Given the description of an element on the screen output the (x, y) to click on. 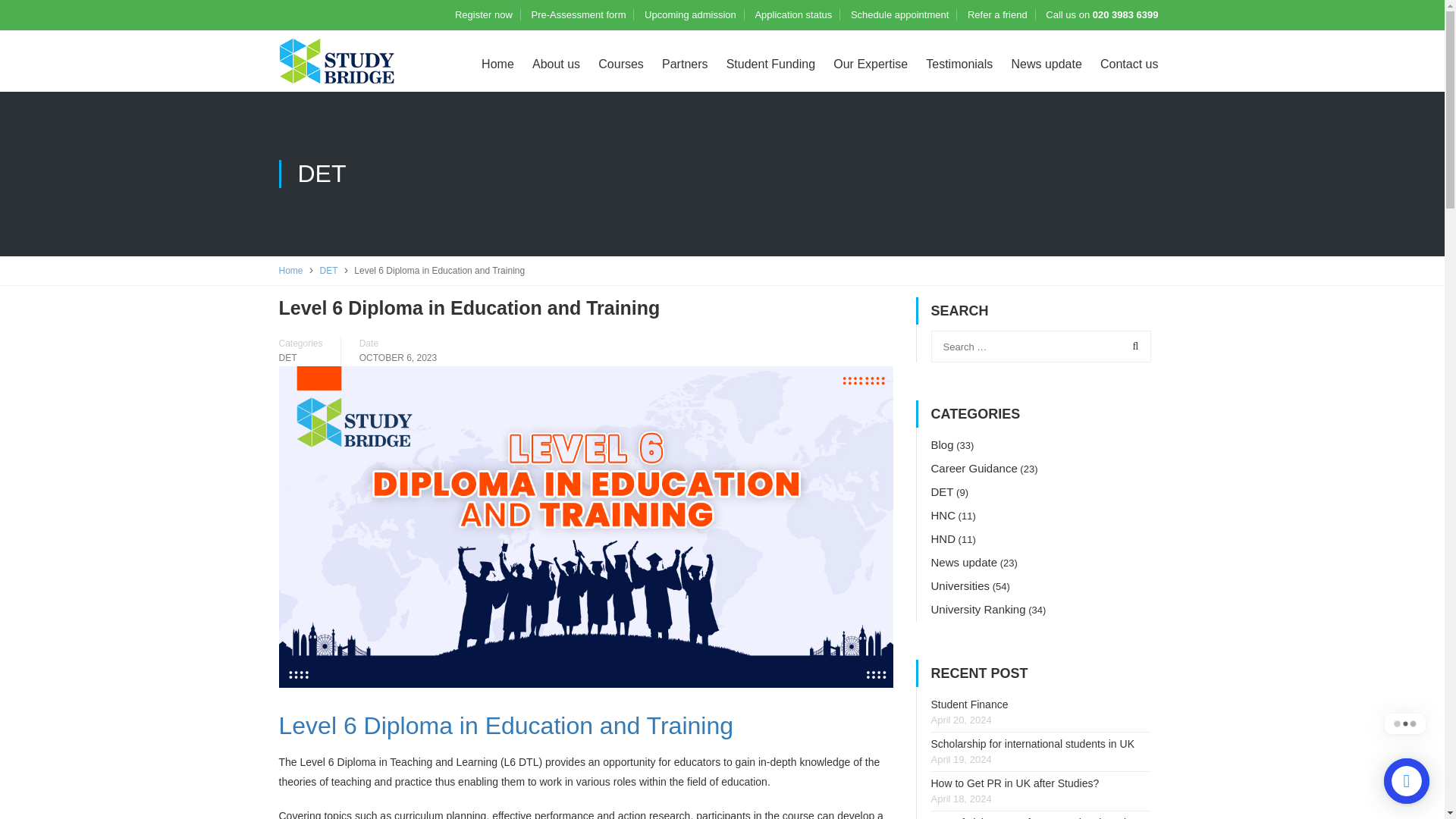
About us (556, 64)
News update (1046, 64)
Search (1132, 346)
Call us on 020 3983 6399 (1101, 14)
Home (290, 270)
Schedule appointment (899, 14)
Testimonials (959, 64)
Search (1132, 346)
Study Bridge -  (336, 62)
Upcoming admission (690, 14)
